Given the description of an element on the screen output the (x, y) to click on. 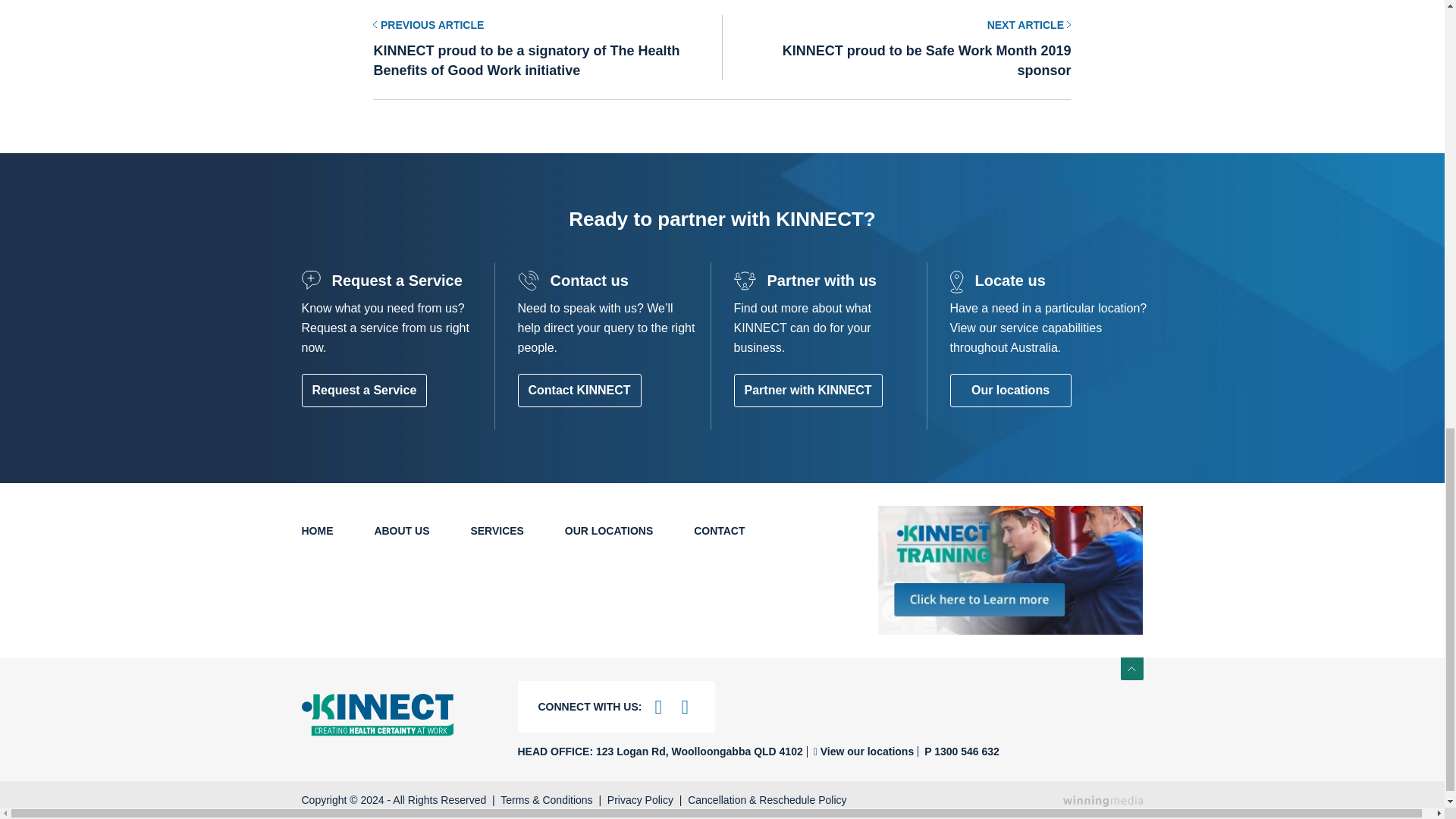
KINNECT LOGO (376, 714)
Back to top (1131, 668)
back to top (1131, 668)
phone (957, 751)
YouTube (657, 706)
KINNECT (398, 714)
KINNECT proud to be Safe Work Month 2019 sponsor (896, 47)
LinkedIn (684, 706)
phone (860, 751)
